Given the description of an element on the screen output the (x, y) to click on. 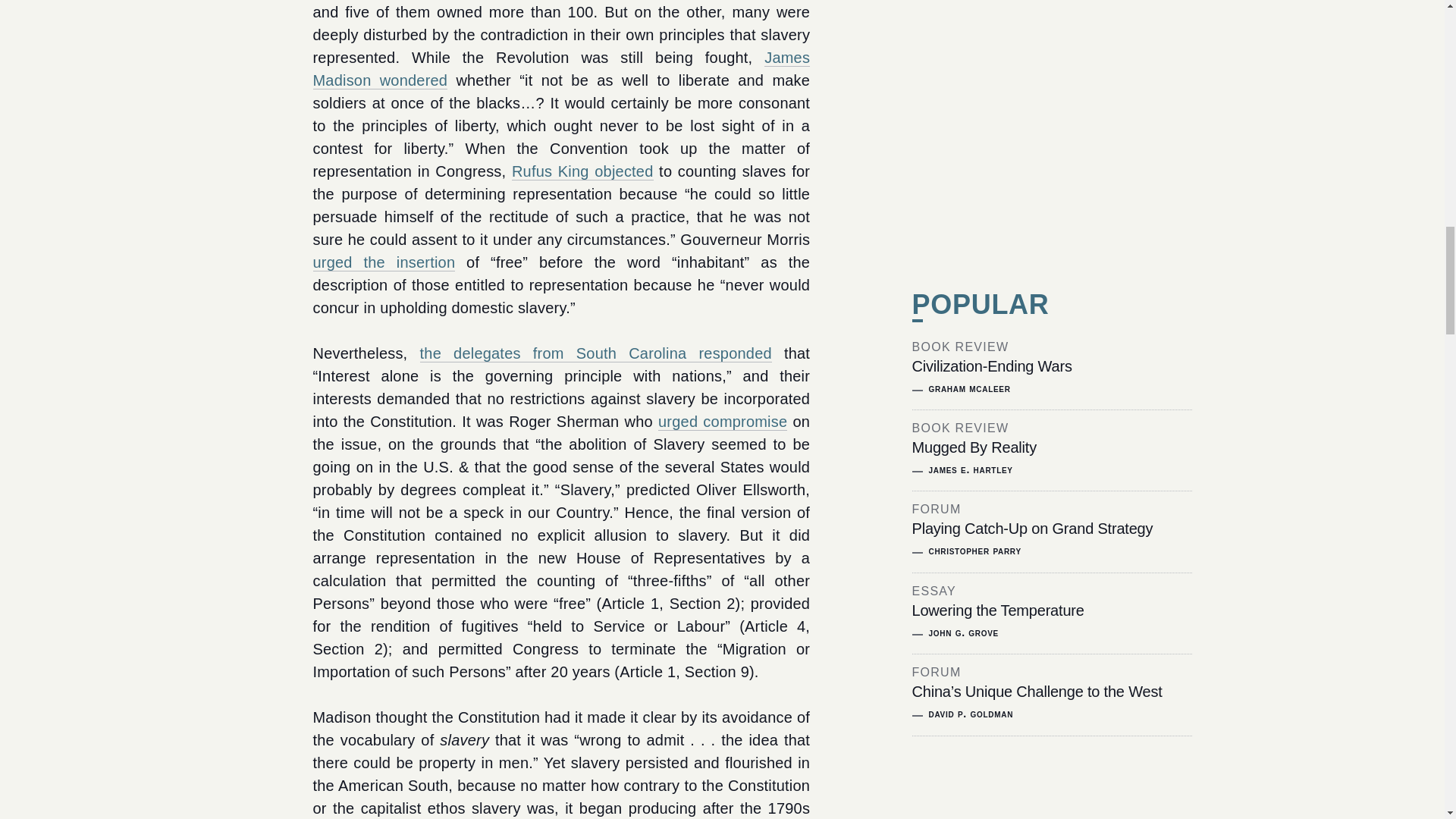
James Madison wondered (561, 69)
